Given the description of an element on the screen output the (x, y) to click on. 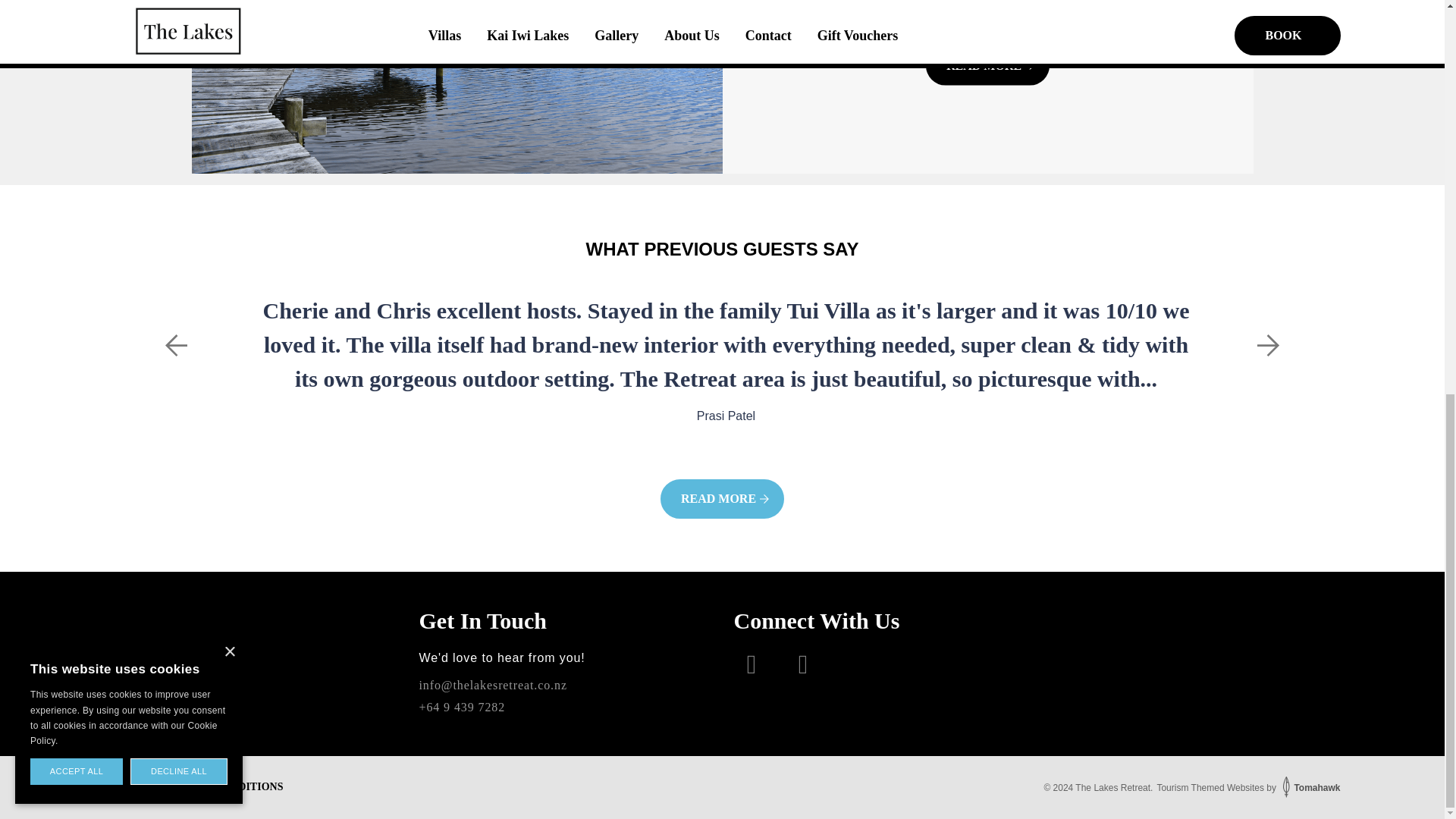
READ MORE (722, 498)
HOME (121, 786)
Tomahawk (1308, 787)
Facebook (745, 664)
Visit Tomahawk Website (1308, 787)
TERMS AND CONDITIONS (216, 786)
READ MORE (987, 65)
Instagram (797, 664)
